Given the description of an element on the screen output the (x, y) to click on. 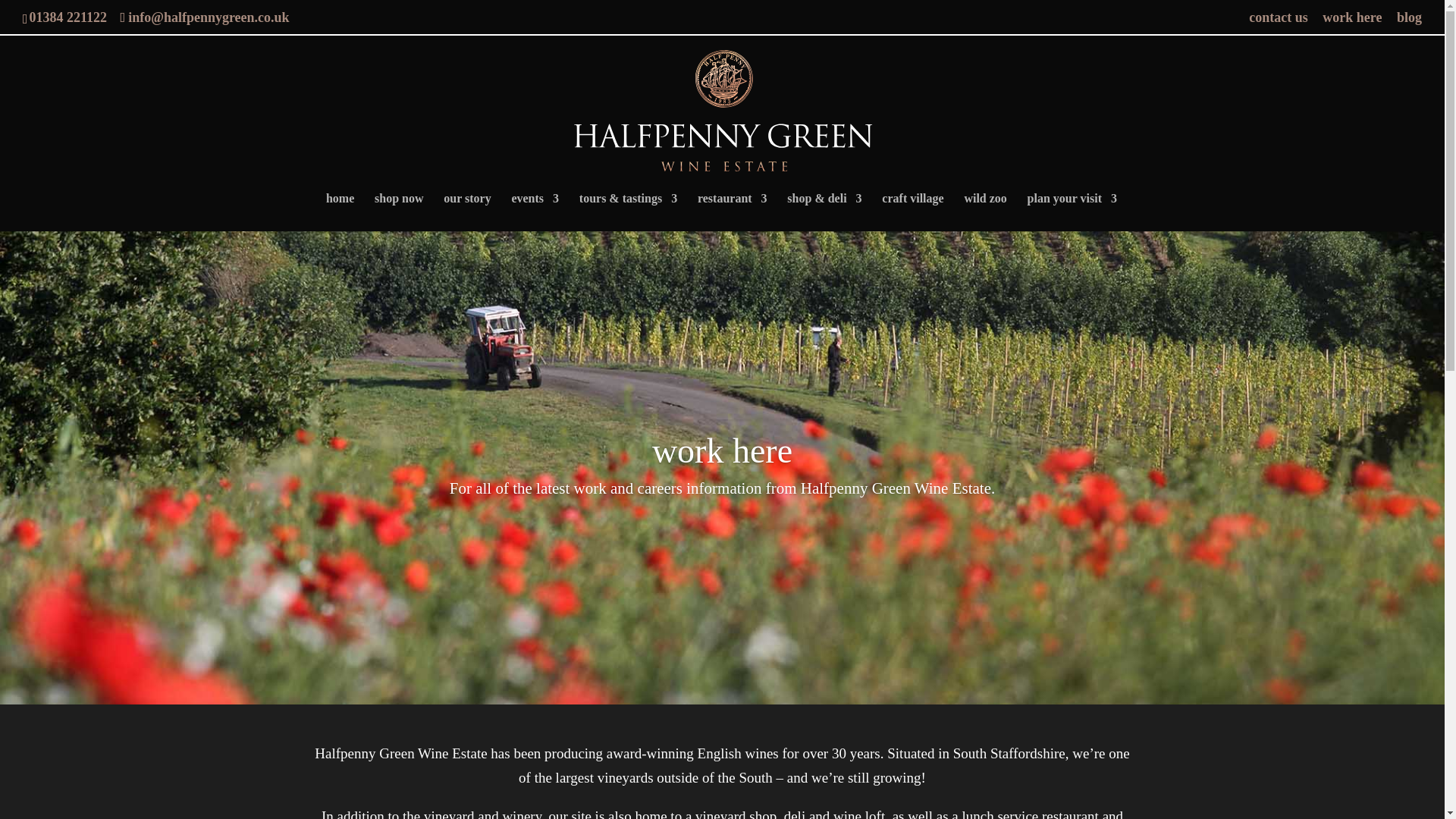
work here (1351, 22)
plan your visit (1071, 211)
home (339, 211)
restaurant (732, 211)
contact us (1278, 22)
shop now (398, 211)
blog (1409, 22)
craft village (912, 211)
our story (467, 211)
events (535, 211)
wild zoo (984, 211)
